Given the description of an element on the screen output the (x, y) to click on. 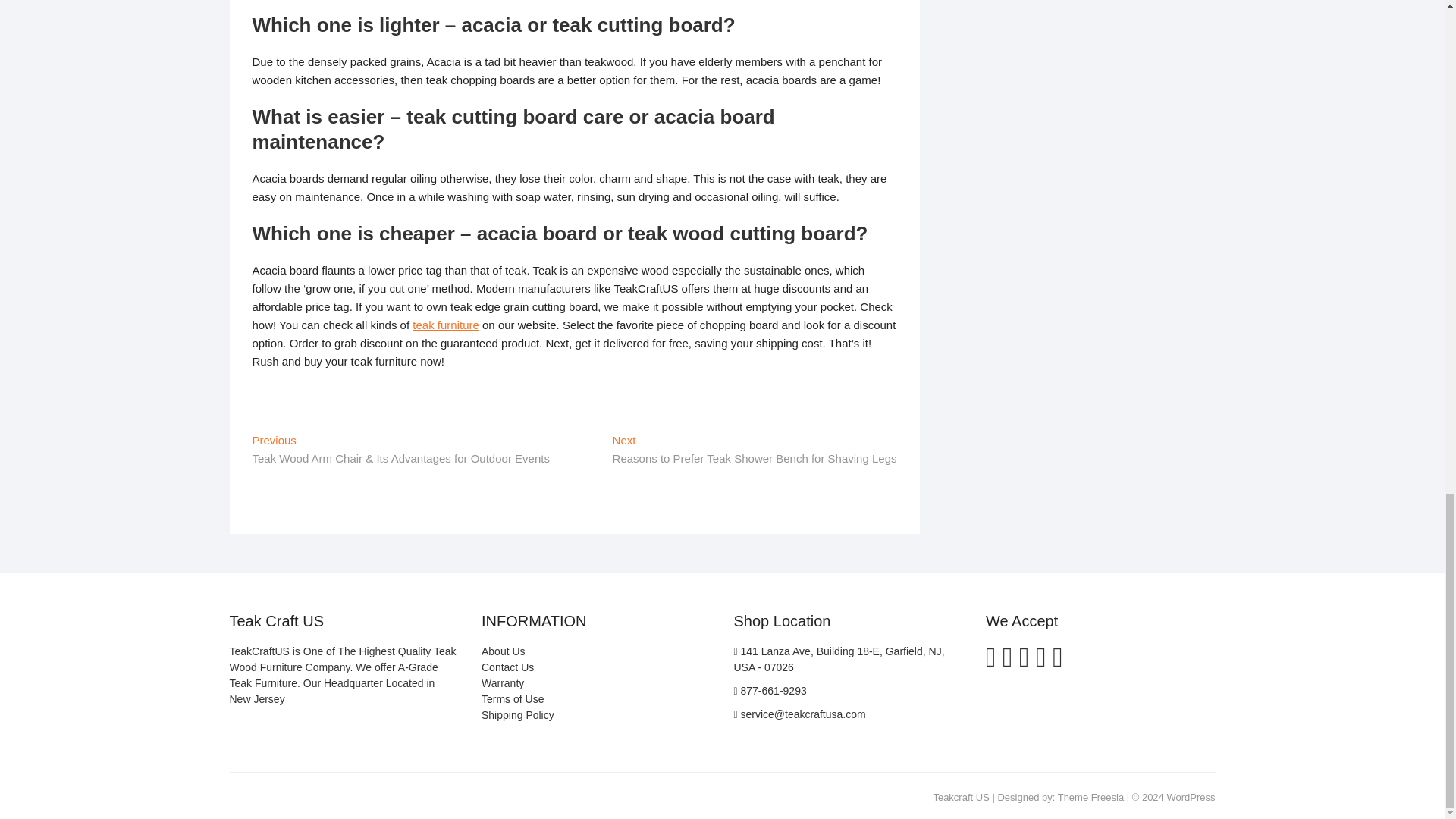
Mail Us (799, 714)
WordPress (1190, 797)
Theme Freesia (1091, 797)
Call Us (769, 690)
Teakcraft US (960, 797)
